Given the description of an element on the screen output the (x, y) to click on. 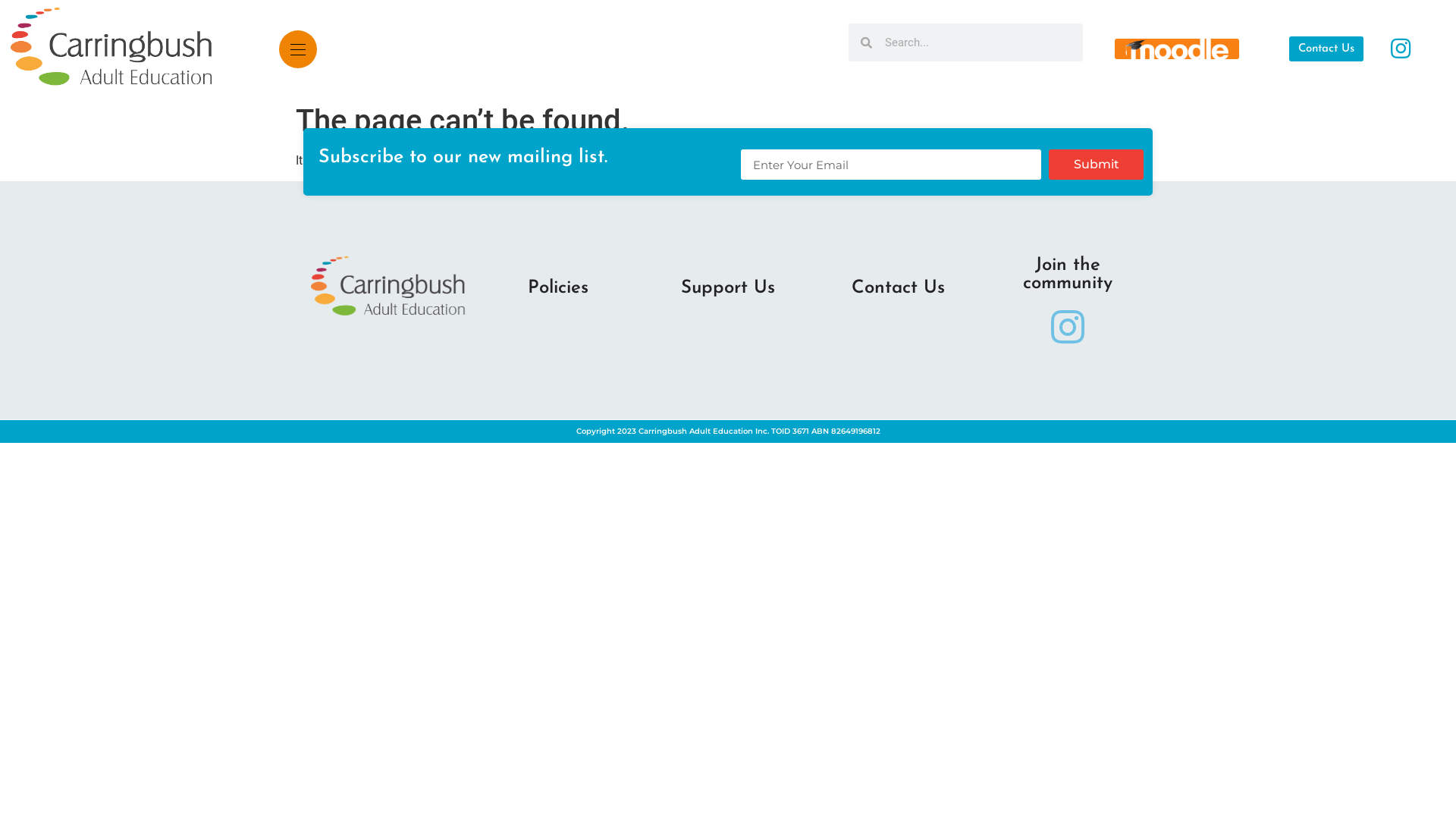
Policies Element type: text (557, 288)
Contact Us Element type: text (897, 288)
Contact Us Element type: text (1326, 48)
Support Us Element type: text (727, 288)
Submit Element type: text (1095, 164)
